Given the description of an element on the screen output the (x, y) to click on. 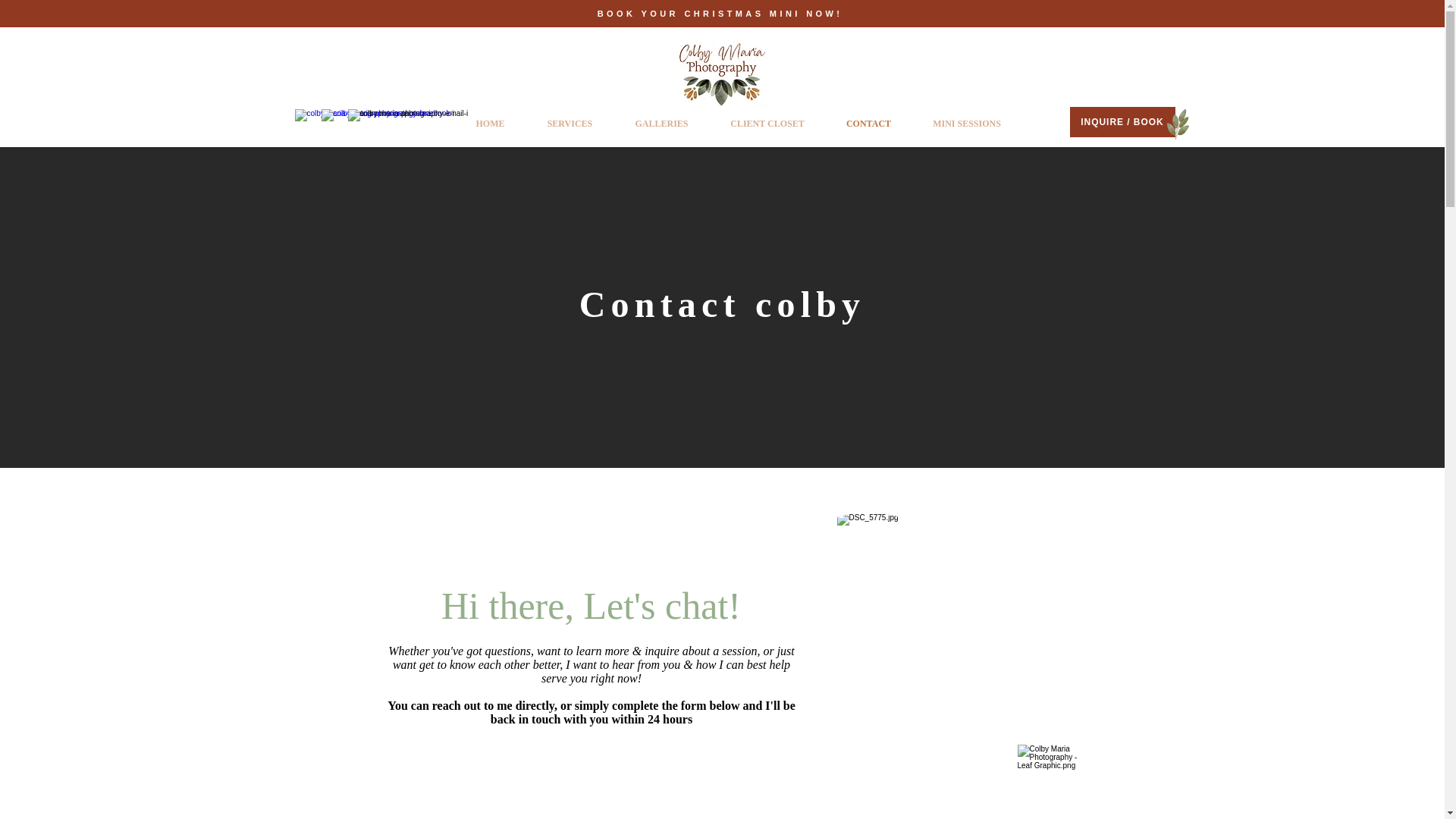
BOOK YOUR CHRISTMAS MINI NOW! (721, 13)
CLIENT CLOSET (767, 123)
CONTACT (868, 123)
SERVICES (569, 123)
HOME (489, 123)
GALLERIES (662, 123)
MINI SESSIONS (966, 123)
